Given the description of an element on the screen output the (x, y) to click on. 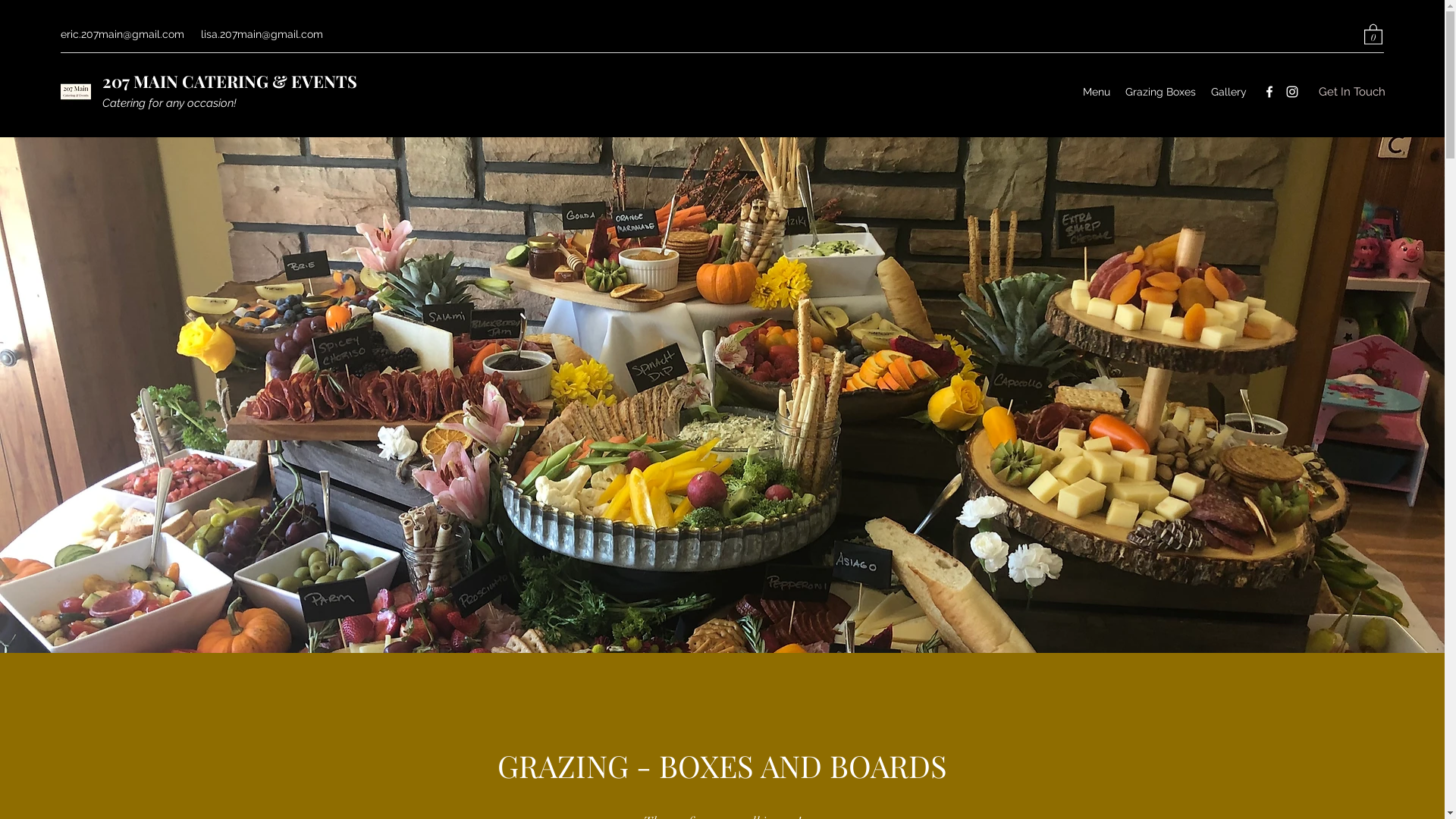
0 Element type: text (1373, 33)
Menu Element type: text (1096, 91)
Grazing Boxes Element type: text (1160, 91)
Gallery Element type: text (1228, 91)
207 MAIN CATERING & EVENTS Element type: text (229, 80)
lisa.207main@gmail.com Element type: text (261, 34)
Get In Touch Element type: text (1351, 92)
eric.207main@gmail.com Element type: text (122, 34)
